Given the description of an element on the screen output the (x, y) to click on. 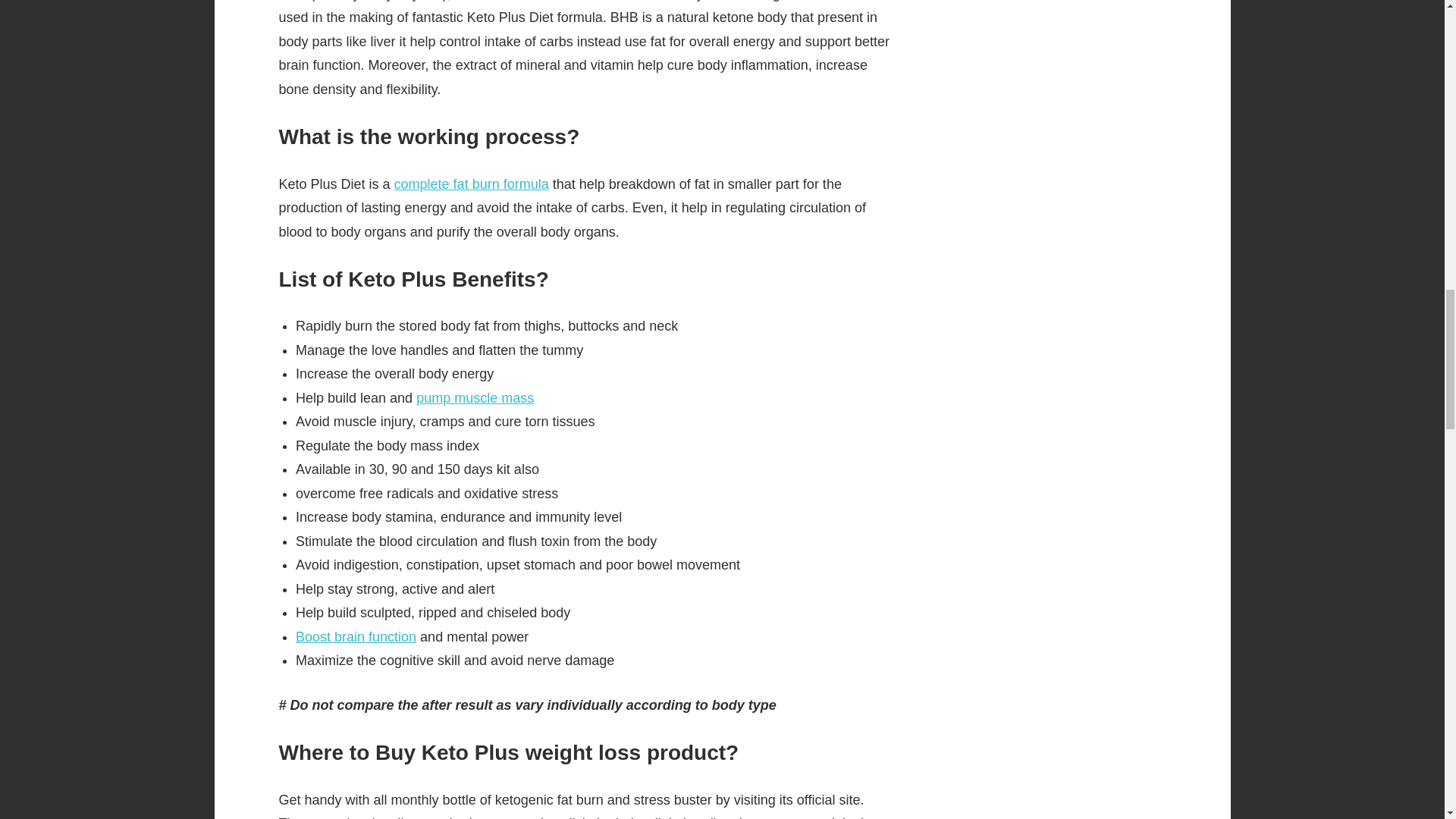
complete fat burn formula (471, 183)
pump muscle mass (475, 397)
Boost brain function (355, 636)
